Given the description of an element on the screen output the (x, y) to click on. 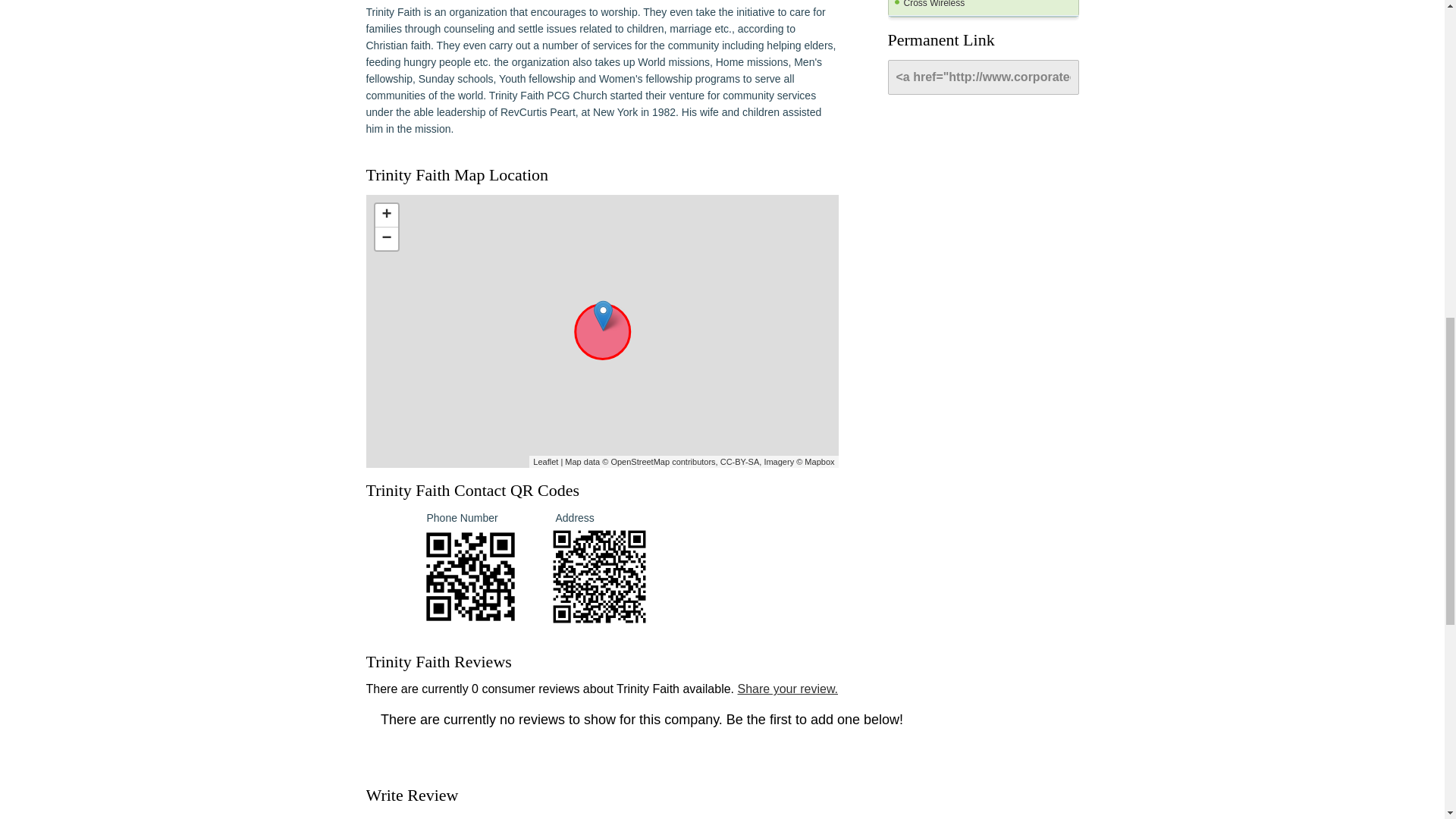
Zoom out (385, 238)
Zoom in (385, 215)
Share your review. (787, 688)
Leaflet (544, 461)
OpenStreetMap (639, 461)
CC-BY-SA (740, 461)
A JS library for interactive maps (544, 461)
Mapbox (819, 461)
Cross Wireless (983, 7)
